Given the description of an element on the screen output the (x, y) to click on. 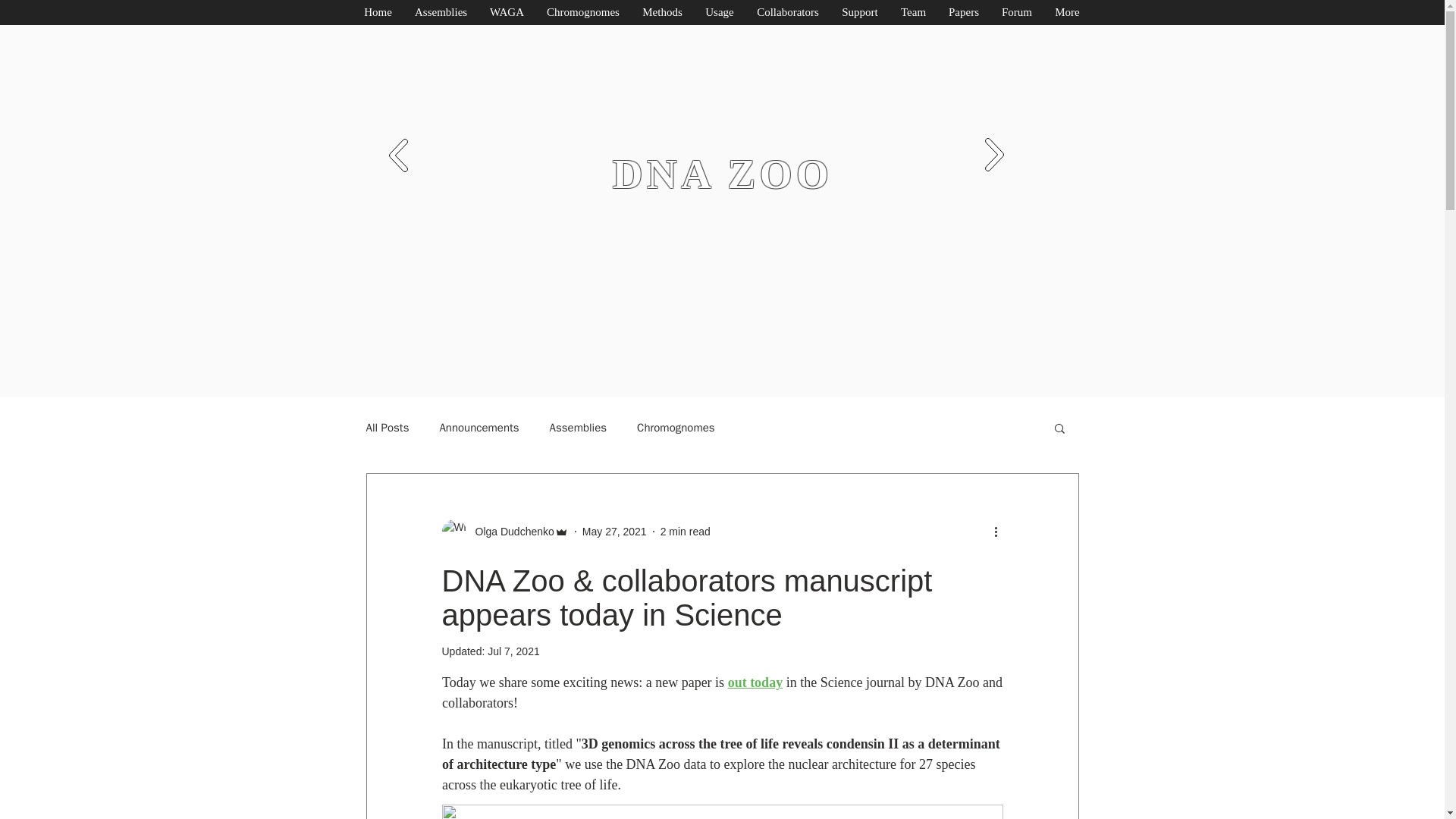
Chromognomes (675, 427)
Assemblies (578, 427)
Jul 7, 2021 (513, 651)
Olga Dudchenko (509, 530)
out today (754, 682)
Olga Dudchenko (504, 531)
All Posts (387, 427)
2 min read (685, 530)
DNA ZOO (722, 173)
May 27, 2021 (614, 530)
Announcements (478, 427)
